Given the description of an element on the screen output the (x, y) to click on. 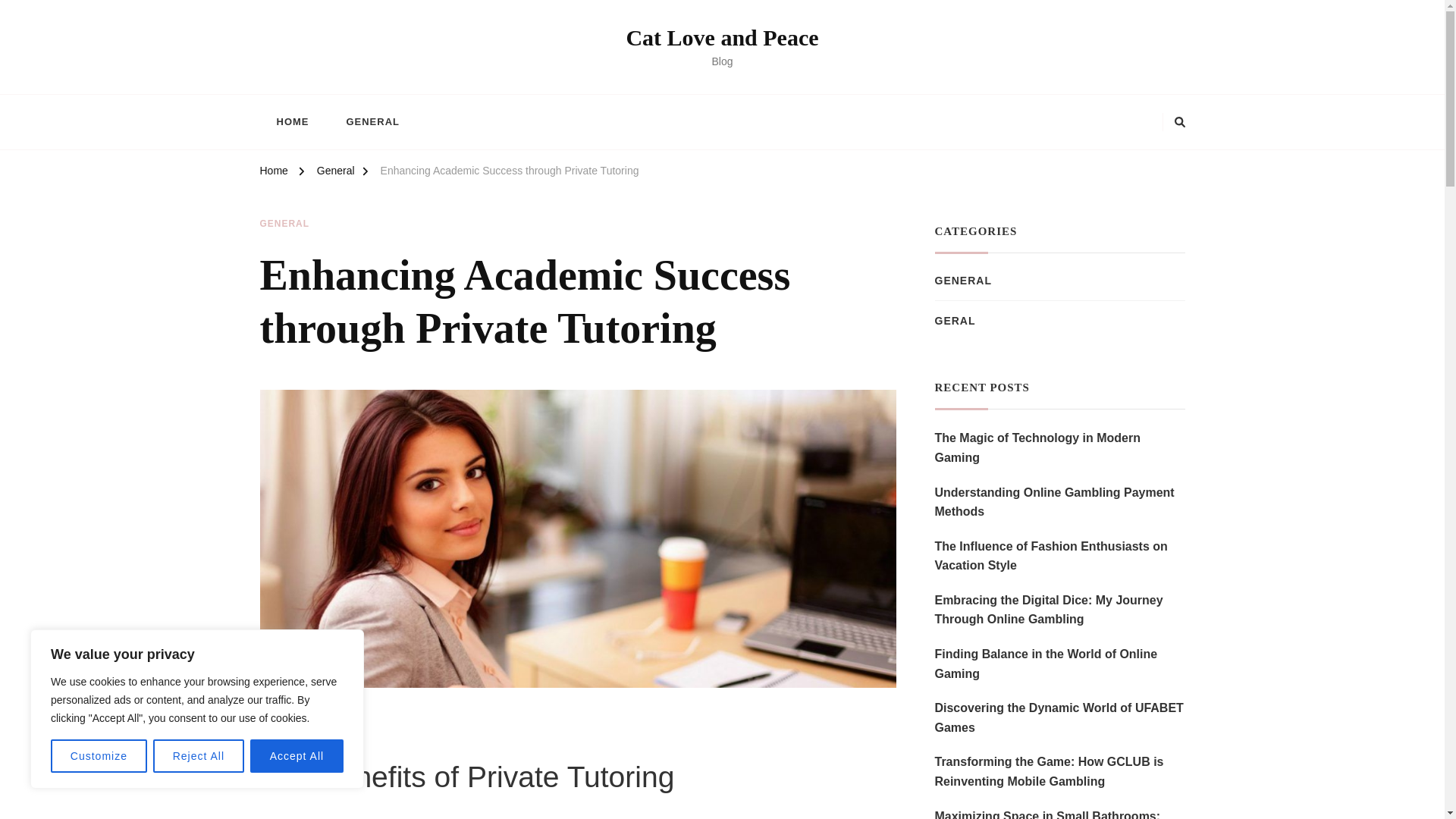
GENERAL (283, 223)
GENERAL (371, 121)
Enhancing Academic Success through Private Tutoring (509, 172)
Cat Love and Peace (722, 37)
Customize (98, 756)
Accept All (296, 756)
General (336, 172)
Reject All (198, 756)
HOME (291, 121)
Home (272, 172)
